Given the description of an element on the screen output the (x, y) to click on. 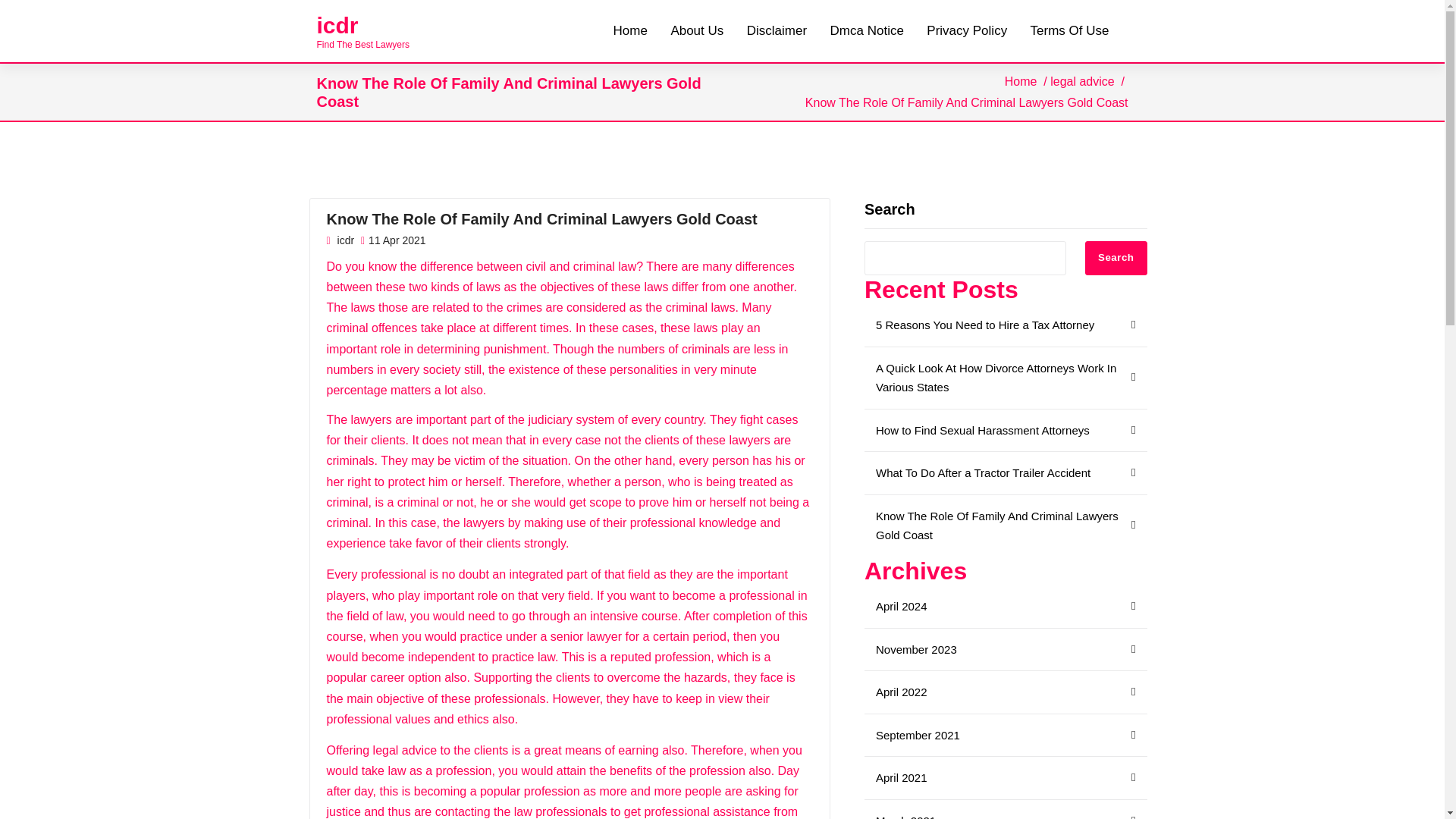
Privacy Policy (966, 31)
5 Reasons You Need to Hire a Tax Attorney (1005, 325)
Terms Of Use (1069, 31)
April 2024 (1005, 606)
Privacy Policy (966, 31)
Know The Role Of Family And Criminal Lawyers Gold Coast (1005, 525)
April 2022 (1005, 692)
11 Apr 2021 (393, 240)
About Us (696, 31)
What To Do After a Tractor Trailer Accident (1005, 473)
